Given the description of an element on the screen output the (x, y) to click on. 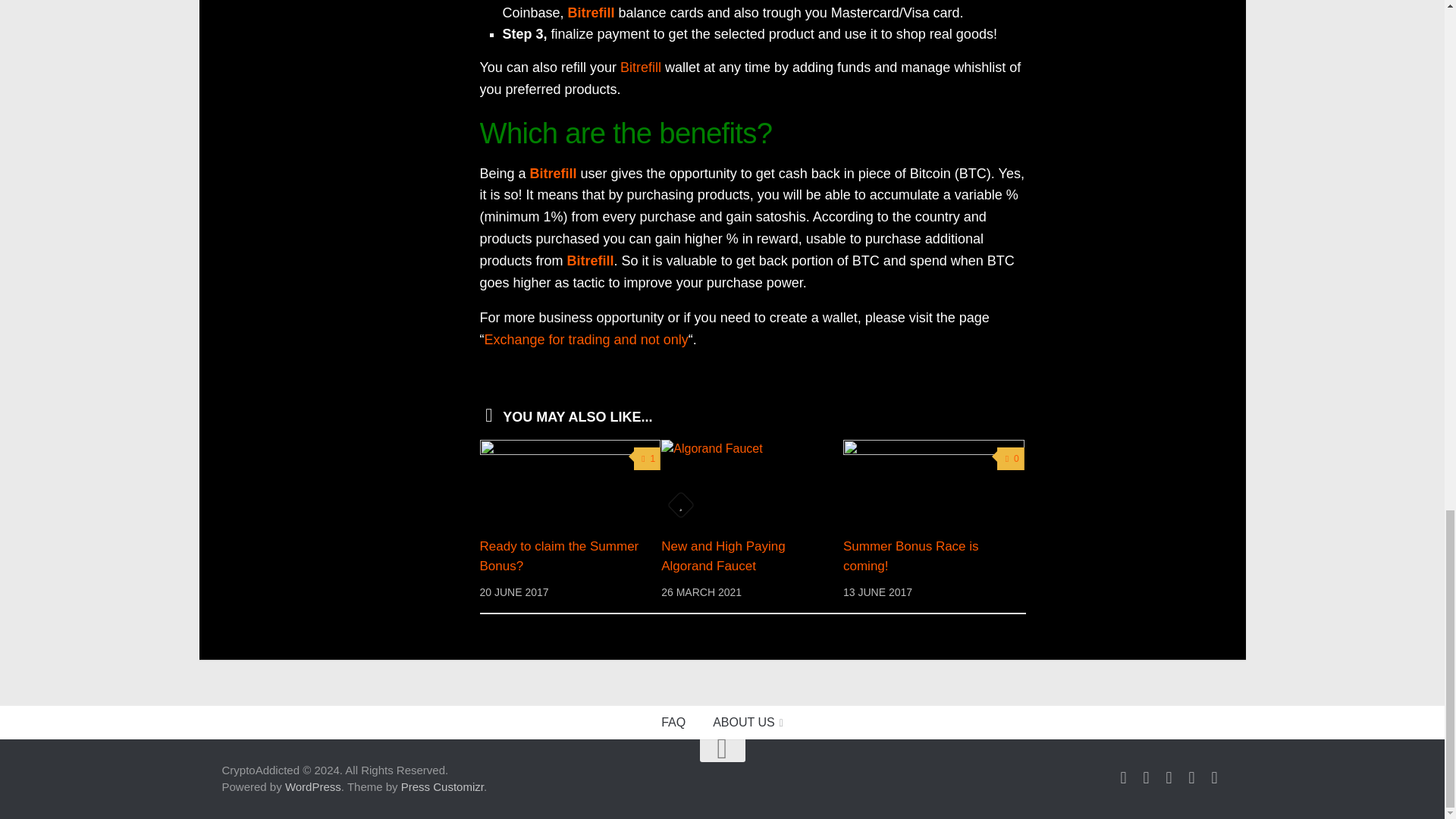
Summer Bonus Race is coming! (910, 555)
New and High Paying Algorand Faucet (752, 481)
Ready to claim the Summer Bonus? (559, 555)
New and High Paying Algorand Faucet (722, 555)
Summer Bonus Race is coming! (934, 481)
Ready to claim the Summer Bonus? (570, 481)
